Given the description of an element on the screen output the (x, y) to click on. 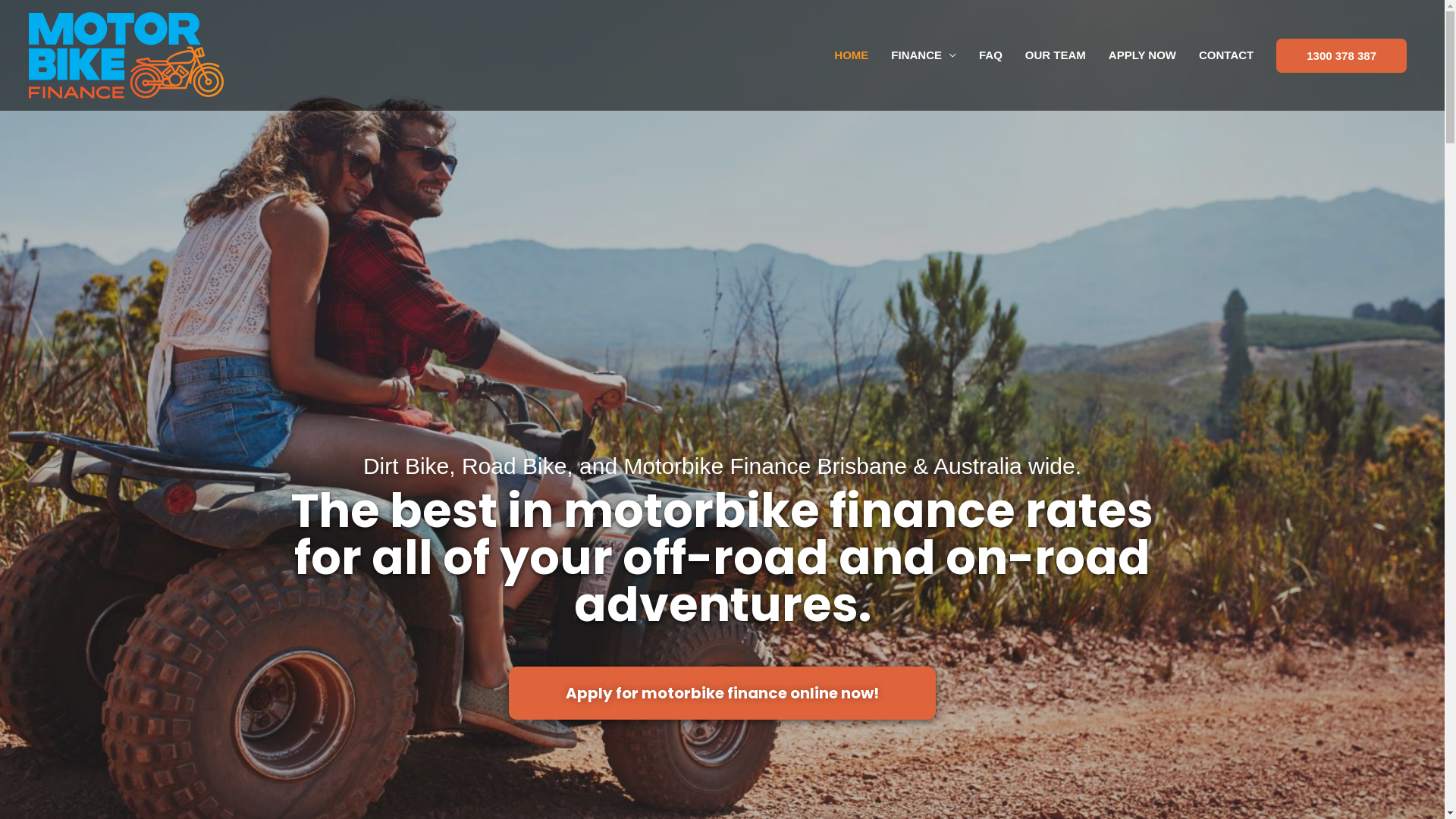
1300 378 387 Element type: text (1341, 54)
FAQ Element type: text (990, 55)
HOME Element type: text (850, 55)
FINANCE Element type: text (923, 55)
CONTACT Element type: text (1225, 55)
Apply for motorbike finance online now! Element type: text (721, 692)
OUR TEAM Element type: text (1055, 55)
APPLY NOW Element type: text (1142, 55)
